Given the description of an element on the screen output the (x, y) to click on. 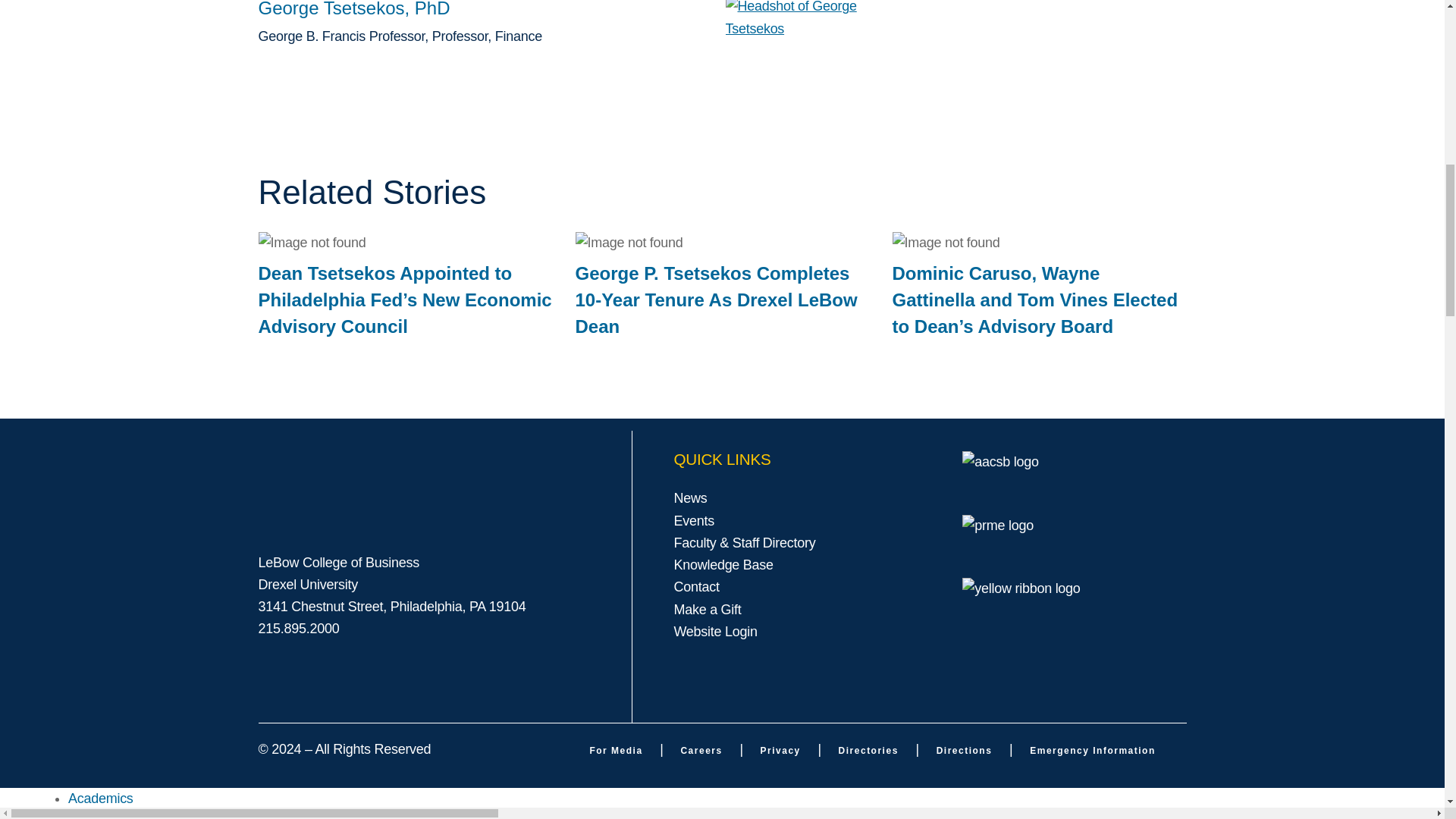
LeBow College of Business (444, 487)
